Given the description of an element on the screen output the (x, y) to click on. 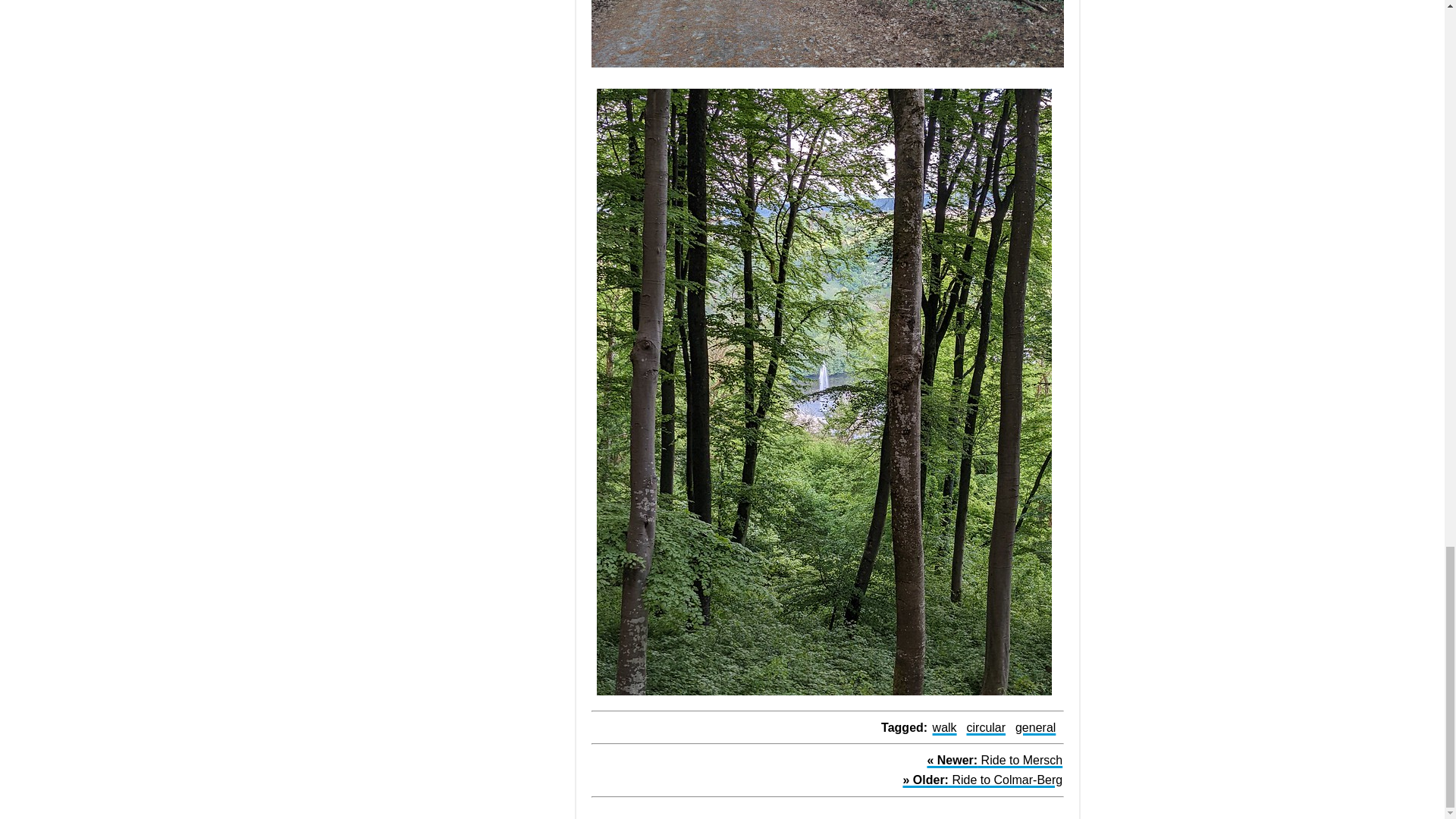
general (1035, 727)
walk (944, 727)
circular (985, 727)
